Given the description of an element on the screen output the (x, y) to click on. 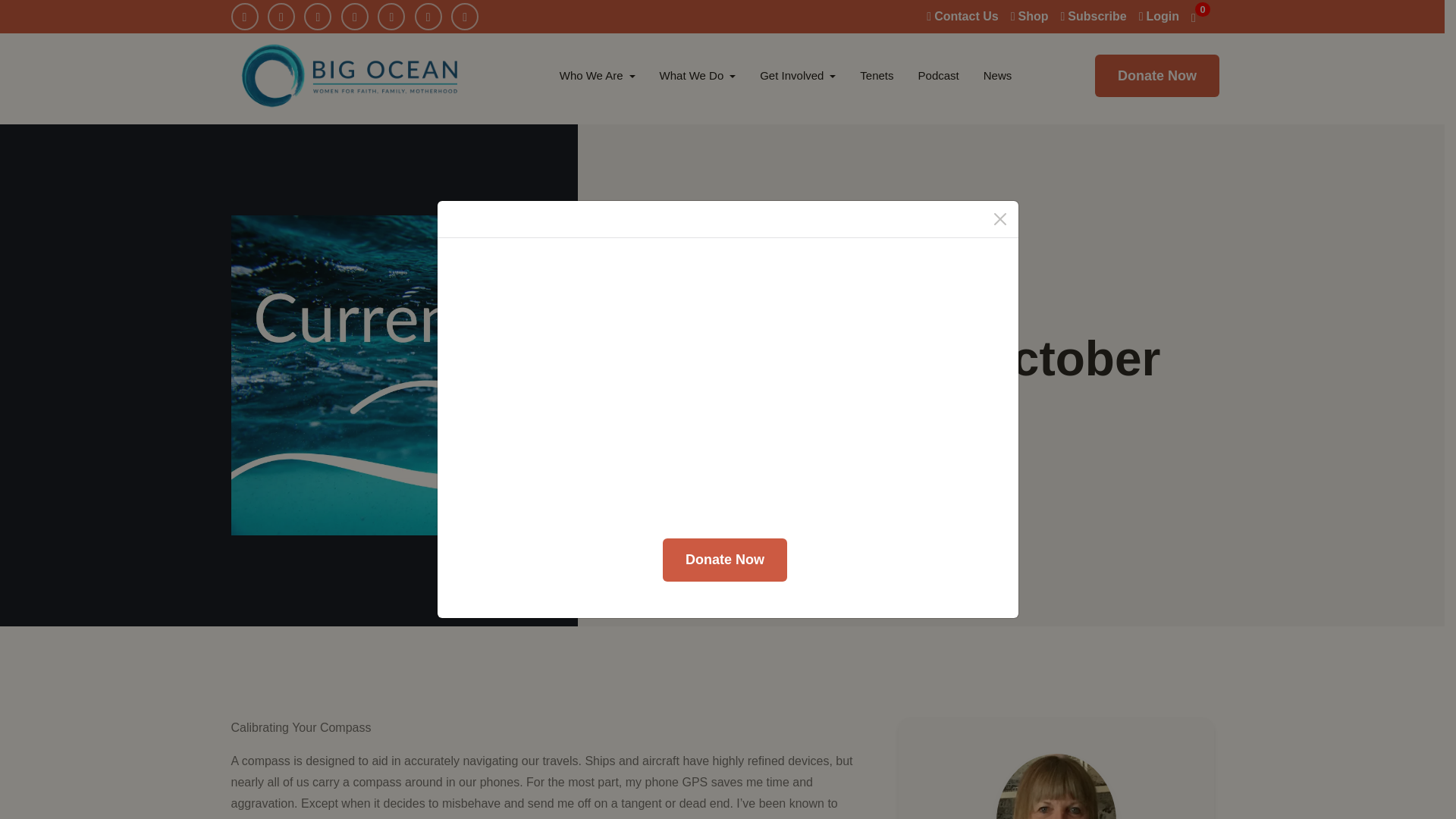
News (998, 76)
Who We Are (597, 76)
Contact Us (961, 16)
Shop (1029, 16)
Tenets (876, 76)
0 (1201, 15)
Subscribe (1092, 16)
View your shopping cart (1201, 15)
Who We Are (597, 76)
Login (1158, 16)
Get Involved (797, 76)
Podcast (938, 76)
What We Do (697, 76)
Donate Now (1157, 75)
What We Do (697, 76)
